Given the description of an element on the screen output the (x, y) to click on. 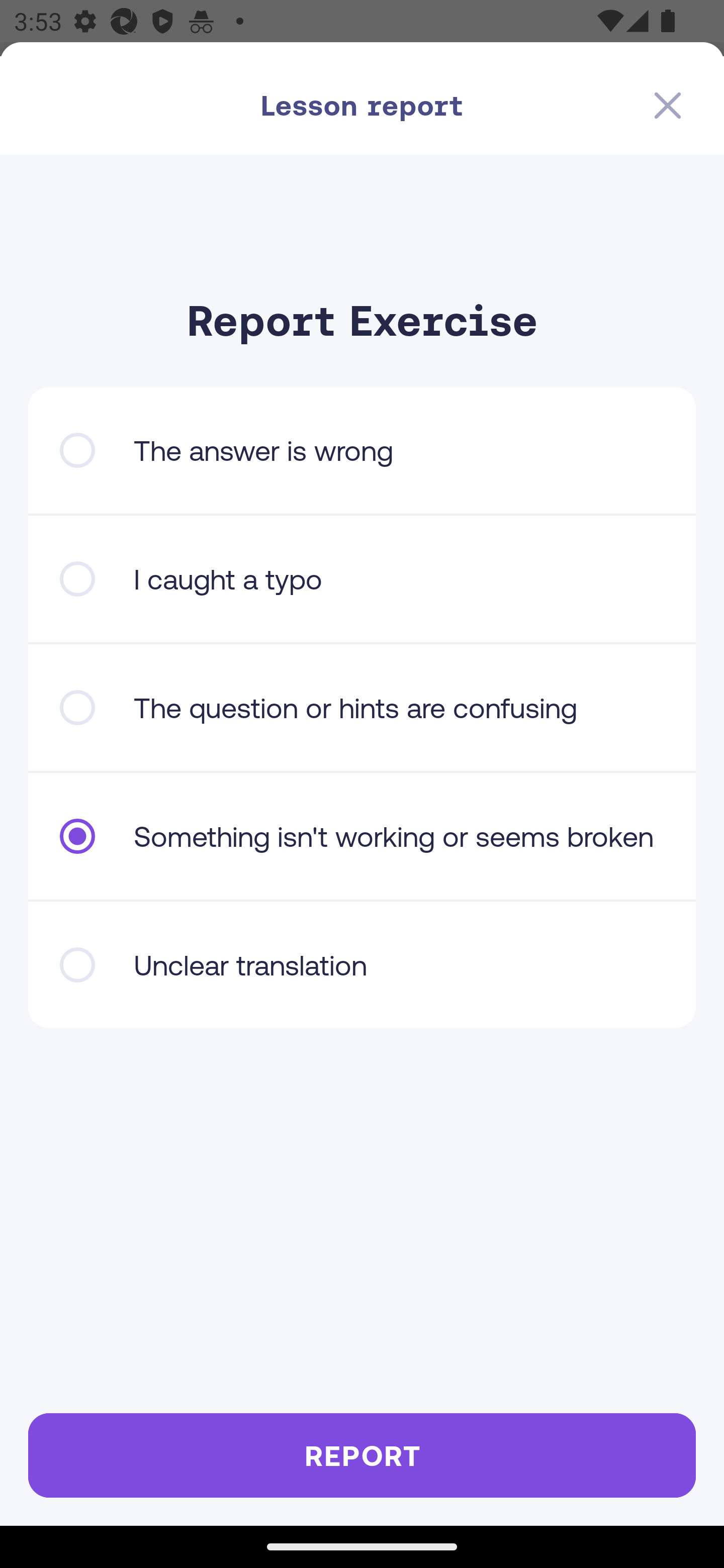
The answer is wrong (361, 450)
I caught a typo (361, 578)
The question or hints are confusing (361, 707)
Something isn't working or seems broken (361, 836)
Unclear translation (361, 964)
REPORT (361, 1454)
